Given the description of an element on the screen output the (x, y) to click on. 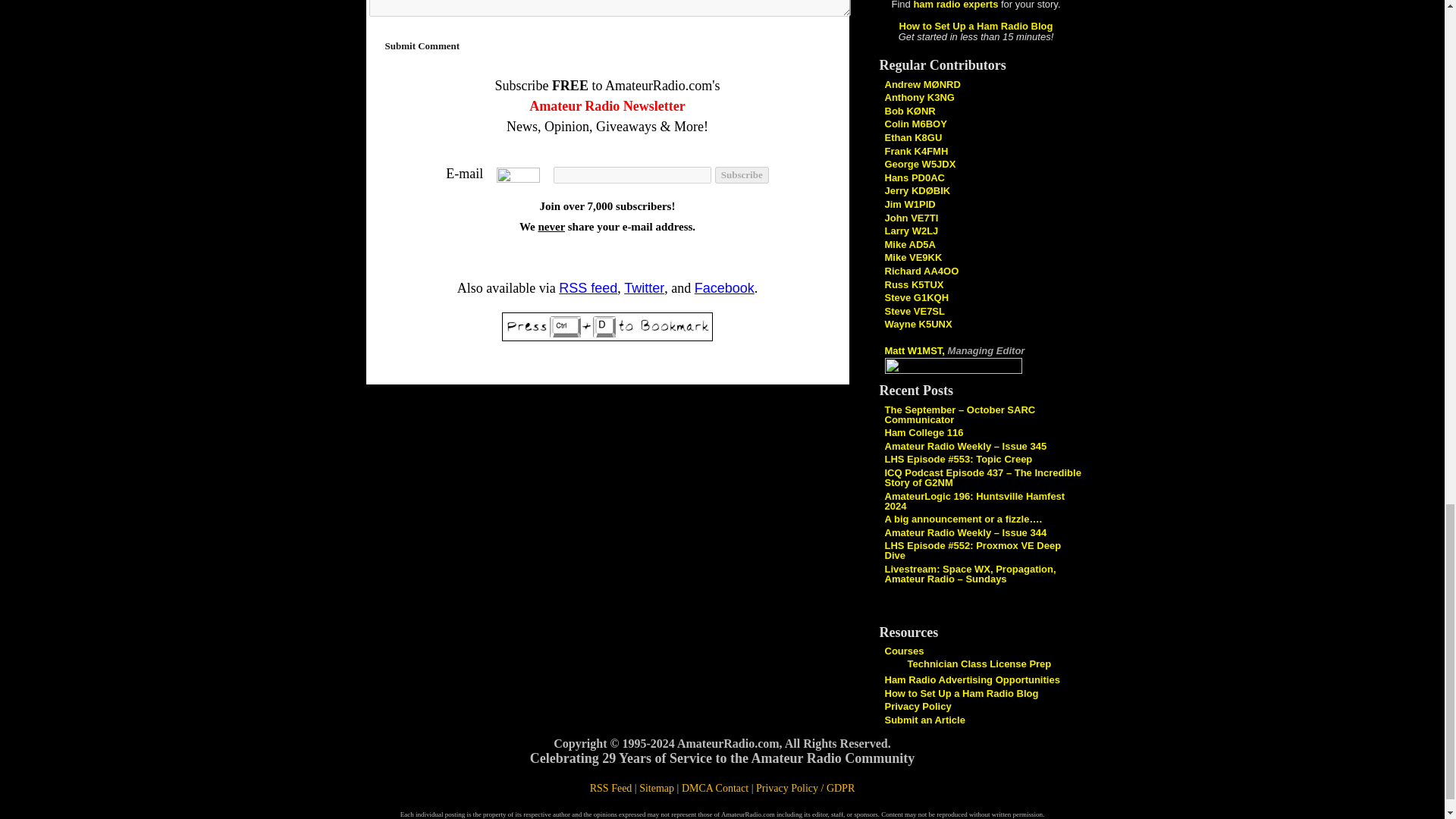
MY HAM RADIO EXPERIENCES (908, 244)
Submit Comment (422, 45)
Entertain, Encourage, Educate and Inspire (916, 190)
RSS feed (588, 287)
Facebook (724, 287)
Subscribe (741, 175)
Twitter (643, 287)
Subscribe (741, 175)
